Given the description of an element on the screen output the (x, y) to click on. 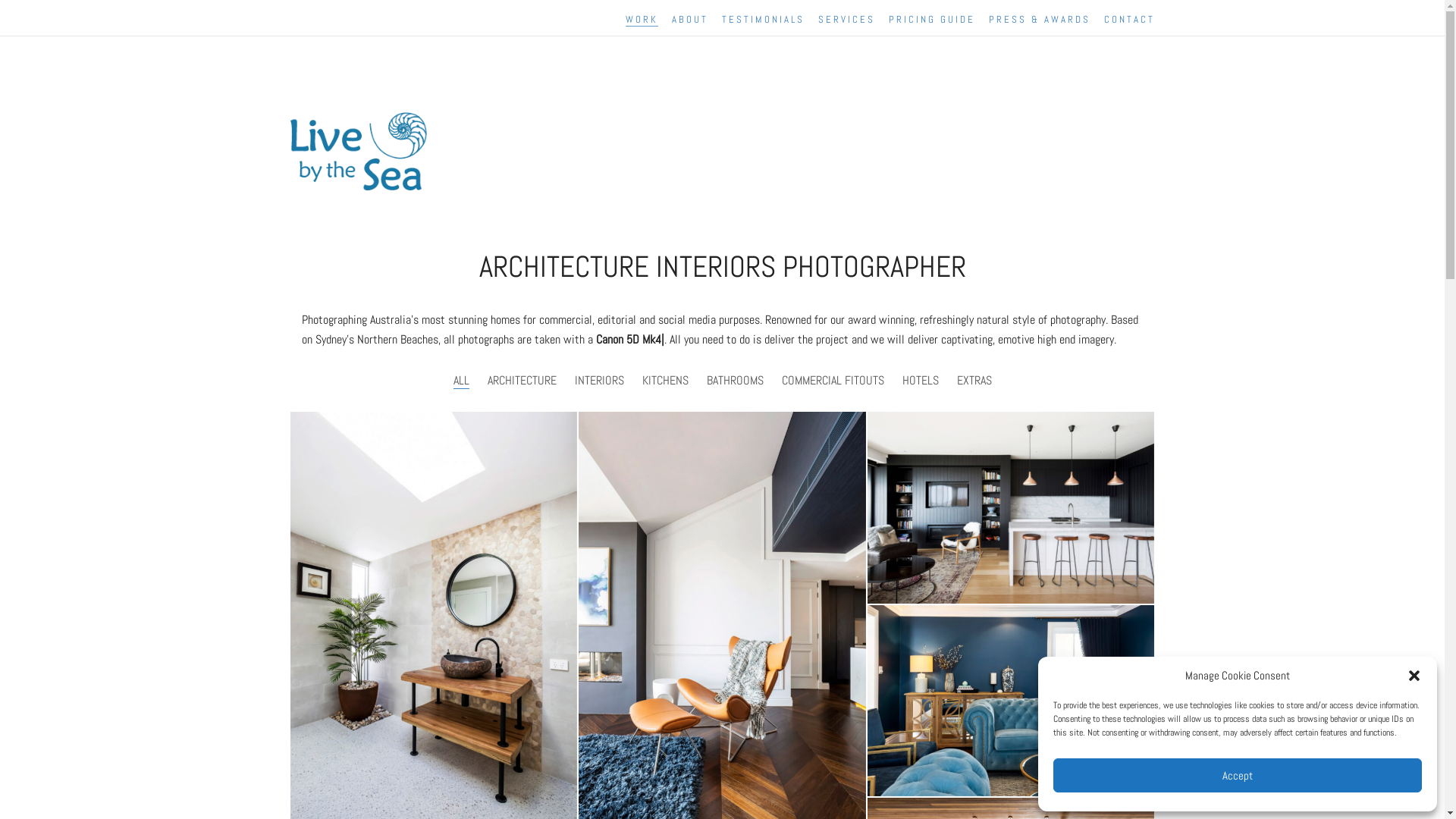
WORK Element type: text (640, 18)
HOTELS Element type: text (920, 380)
CONTACT Element type: text (1129, 18)
PRICING GUIDE Element type: text (931, 18)
KITCHENS Element type: text (664, 380)
Accept Element type: text (1237, 775)
TESTIMONIALS Element type: text (762, 18)
COMMERCIAL FITOUTS Element type: text (832, 380)
SERVICES Element type: text (845, 18)
INTERIORS Element type: text (599, 380)
ABOUT Element type: text (689, 18)
PRESS & AWARDS Element type: text (1039, 18)
BATHROOMS Element type: text (734, 380)
ALL Element type: text (461, 380)
ARCHITECTURE Element type: text (520, 380)
EXTRAS Element type: text (974, 380)
